Given the description of an element on the screen output the (x, y) to click on. 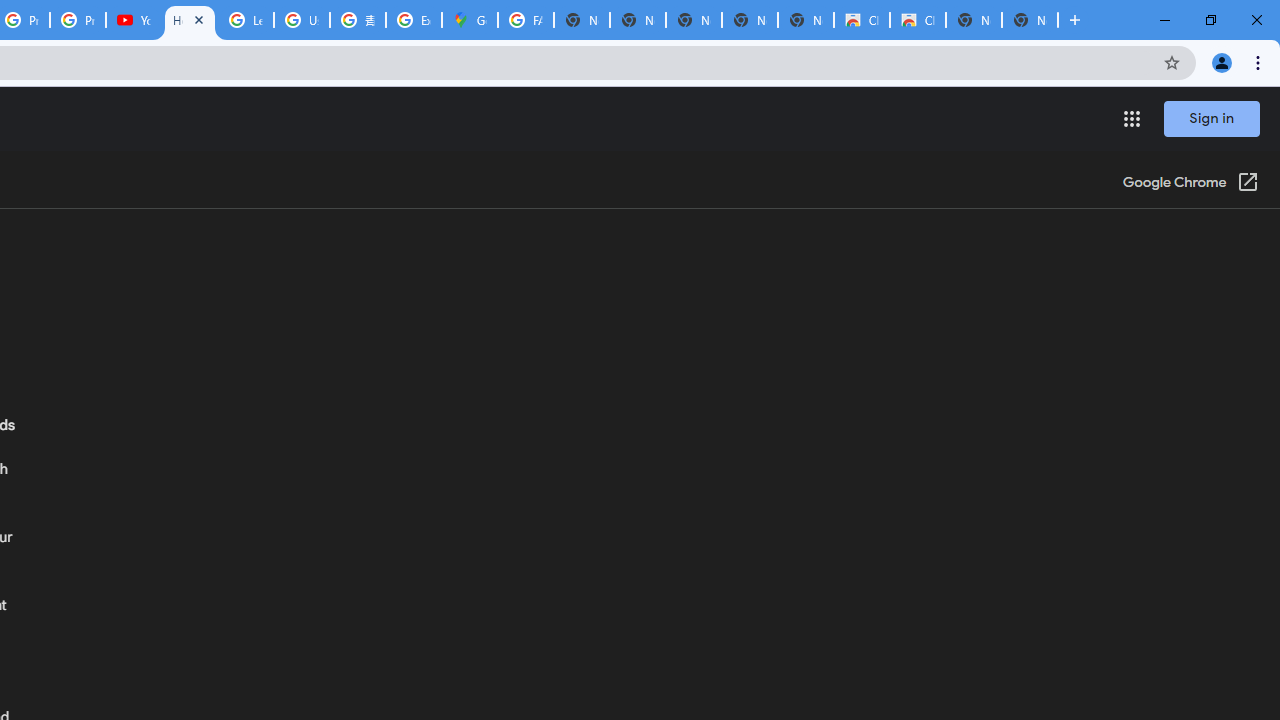
Classic Blue - Chrome Web Store (917, 20)
Google Maps (469, 20)
Privacy Checkup (77, 20)
Classic Blue - Chrome Web Store (861, 20)
New Tab (1030, 20)
Google Chrome (Open in a new window) (1190, 183)
How Chrome protects your passwords - Google Chrome Help (189, 20)
